Given the description of an element on the screen output the (x, y) to click on. 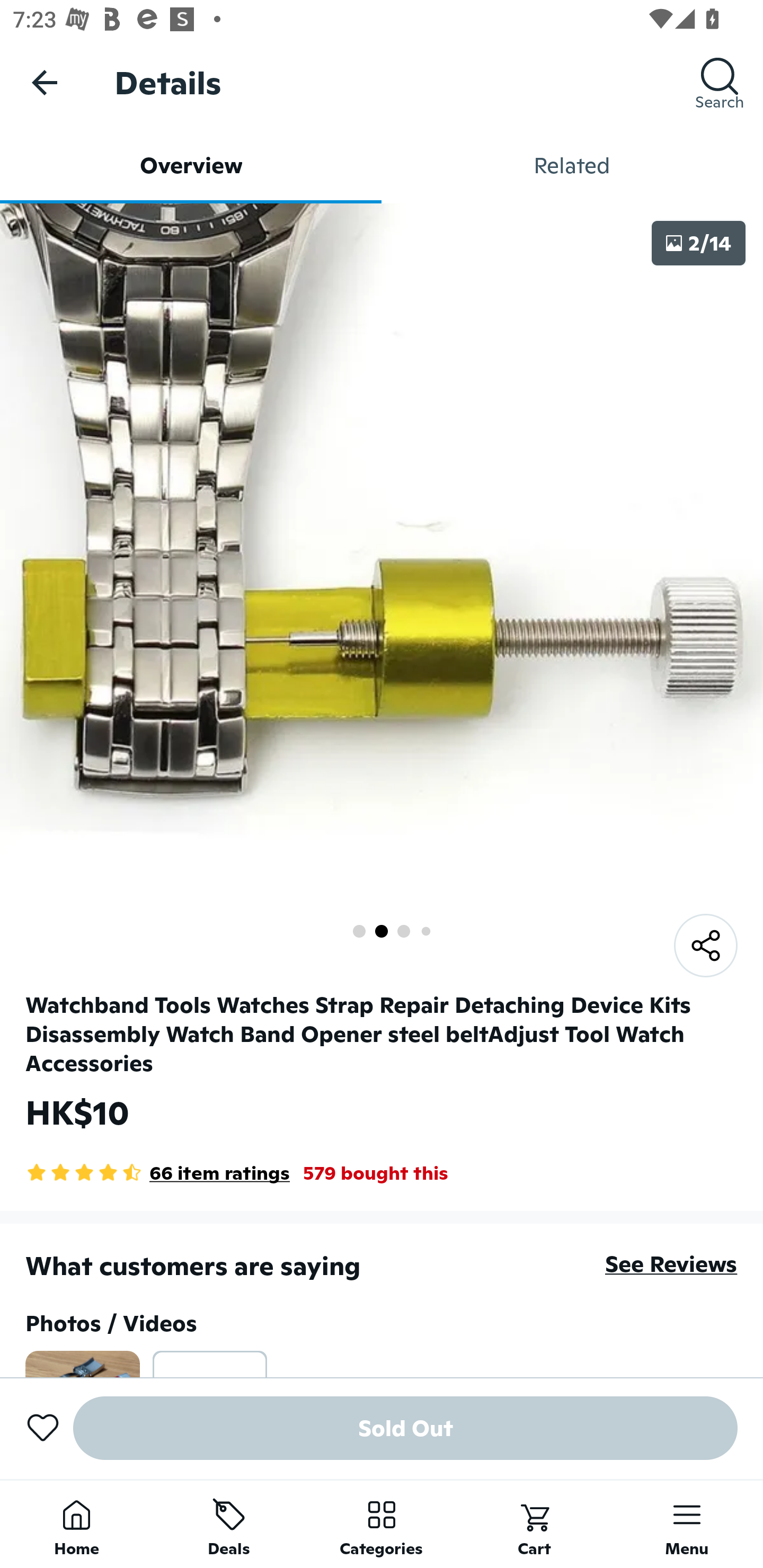
Navigate up (44, 82)
Search (719, 82)
Related (572, 165)
2/14 (698, 242)
4.6 Star Rating 66 item ratings (157, 1172)
See Reviews (671, 1264)
Sold Out (405, 1428)
Home (76, 1523)
Deals (228, 1523)
Categories (381, 1523)
Cart (533, 1523)
Menu (686, 1523)
